Given the description of an element on the screen output the (x, y) to click on. 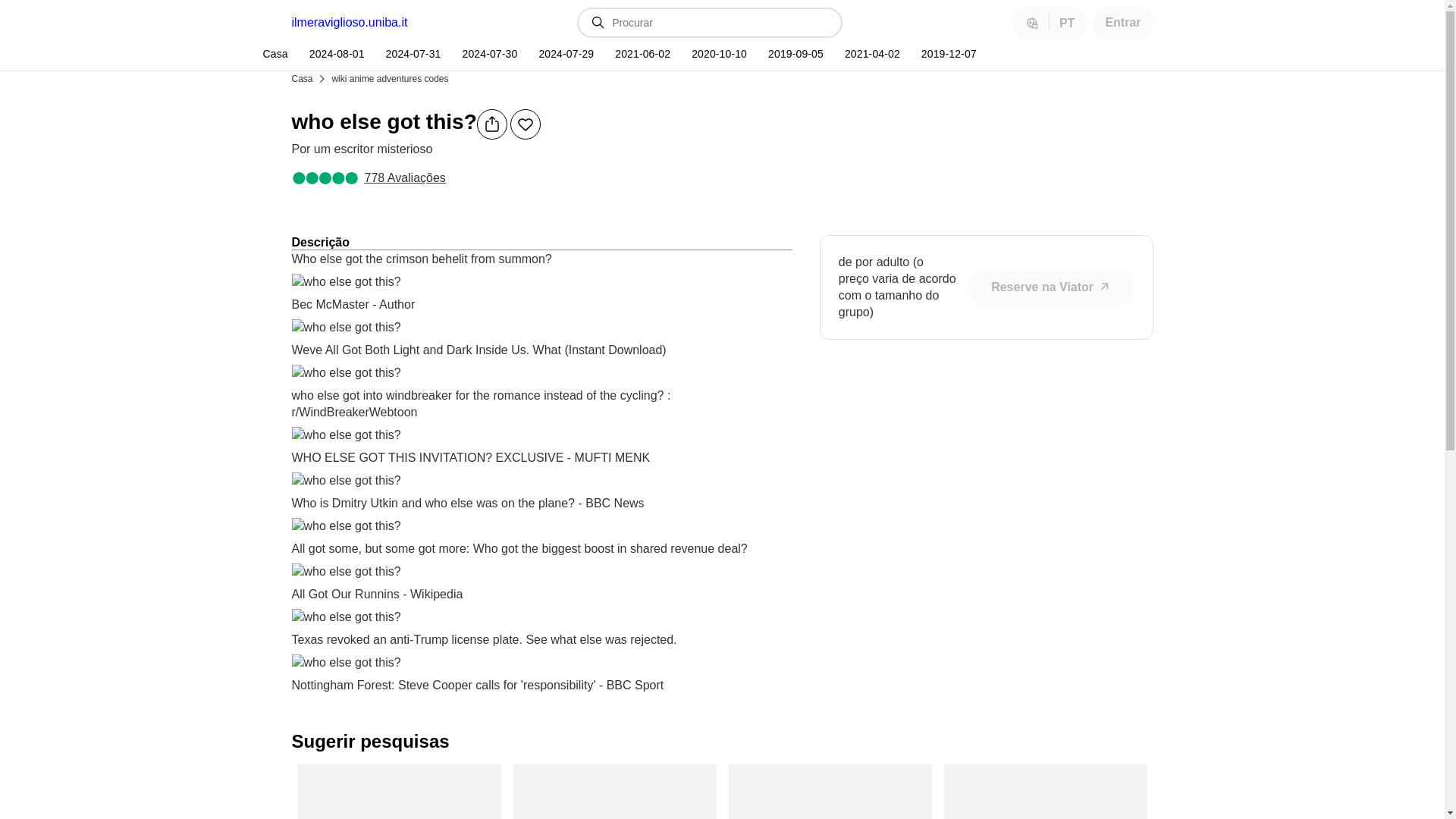
2021-04-02 (870, 54)
2024-07-29 (563, 54)
PT (1048, 22)
How to do an Anime Adventures trade (829, 791)
2019-12-07 (946, 54)
2021-06-02 (640, 54)
2024-08-01 (335, 54)
2020-10-10 (717, 54)
ilmeraviglioso.uniba.it (349, 22)
